Given the description of an element on the screen output the (x, y) to click on. 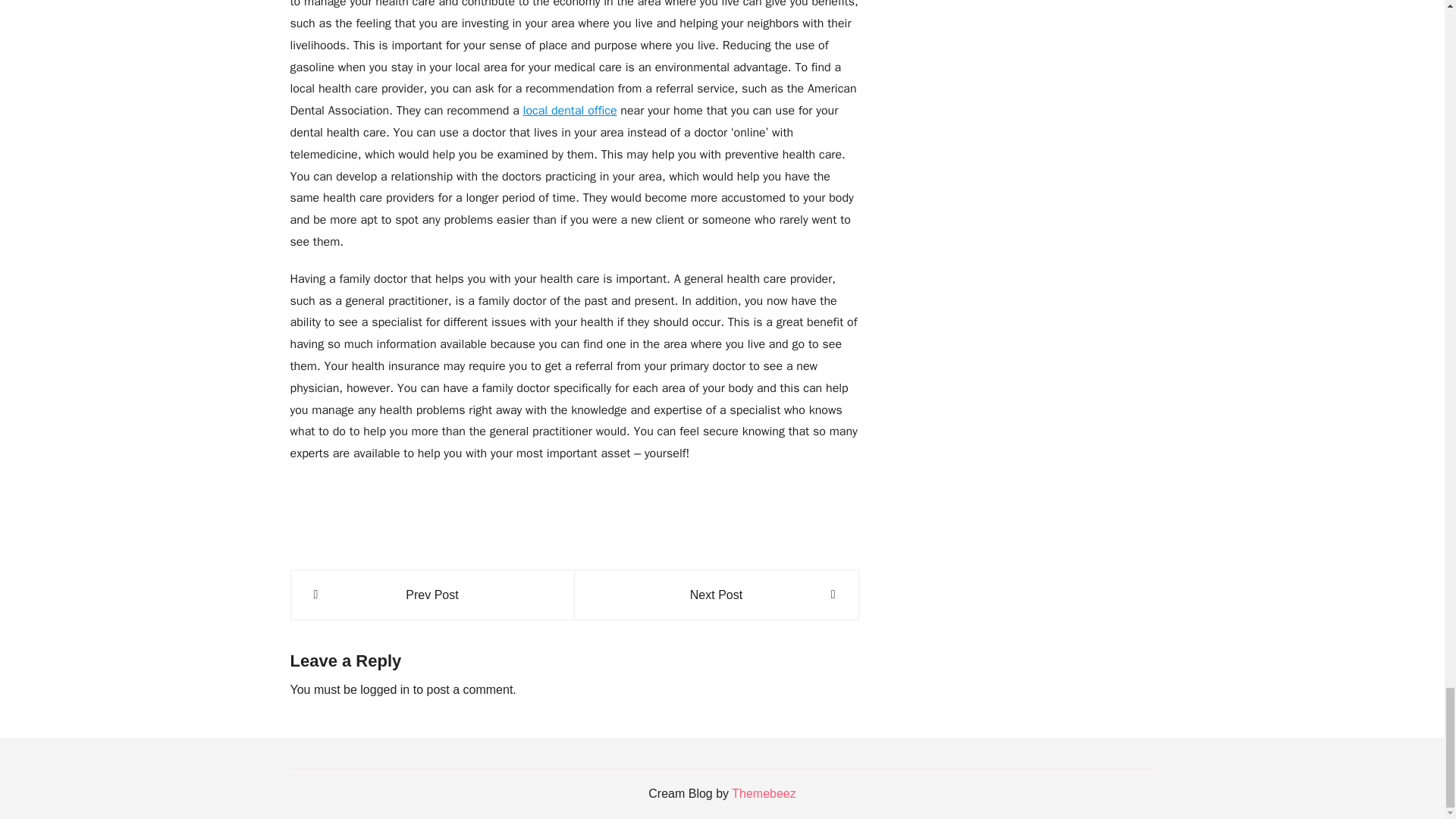
Next Post (715, 595)
logged in (384, 689)
Prev Post (432, 595)
local dental office (569, 110)
